Given the description of an element on the screen output the (x, y) to click on. 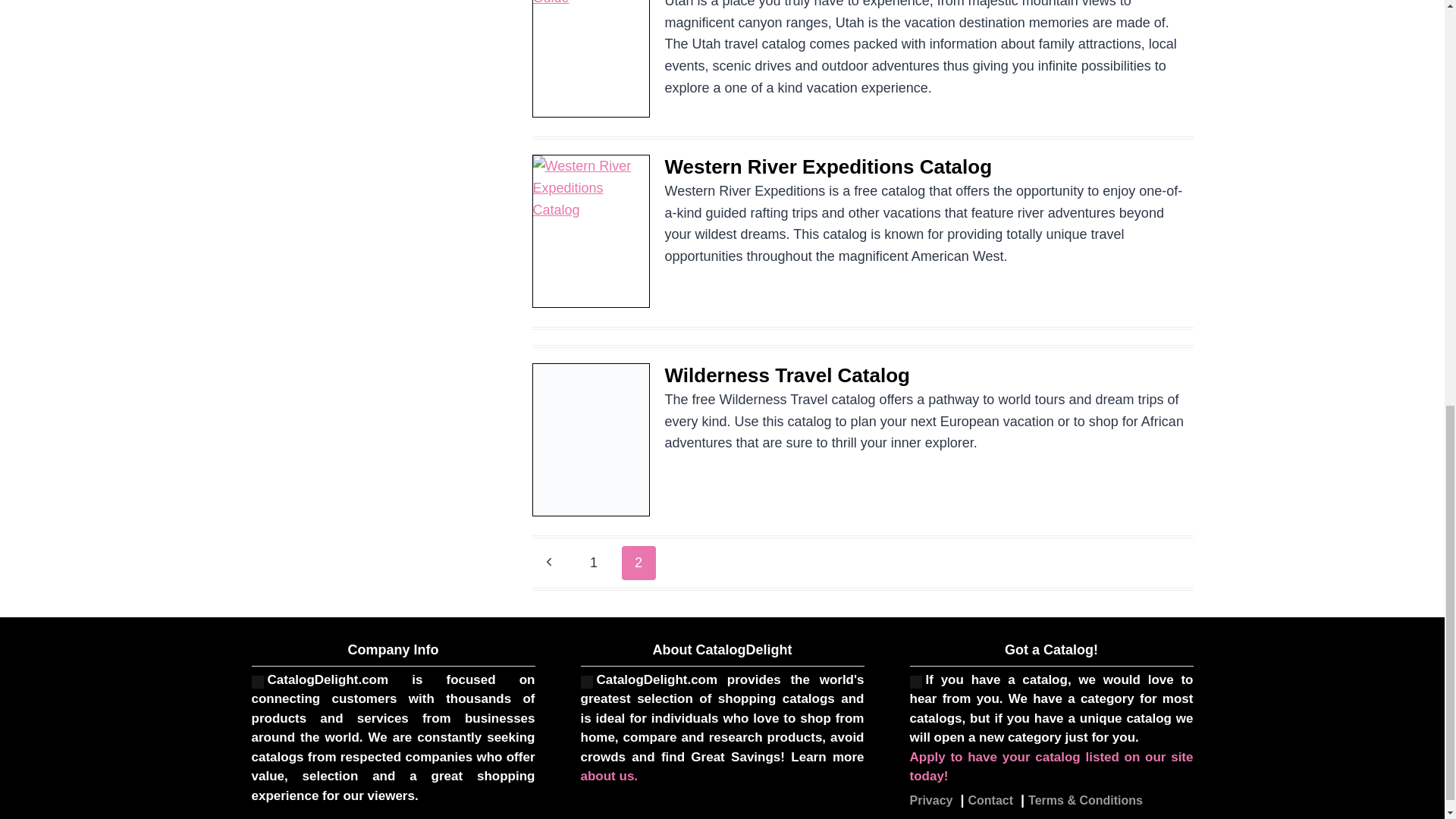
Wilderness Travel Catalog (785, 374)
Western River Expeditions Catalog (827, 166)
Previous Page (549, 562)
1 (593, 562)
